Given the description of an element on the screen output the (x, y) to click on. 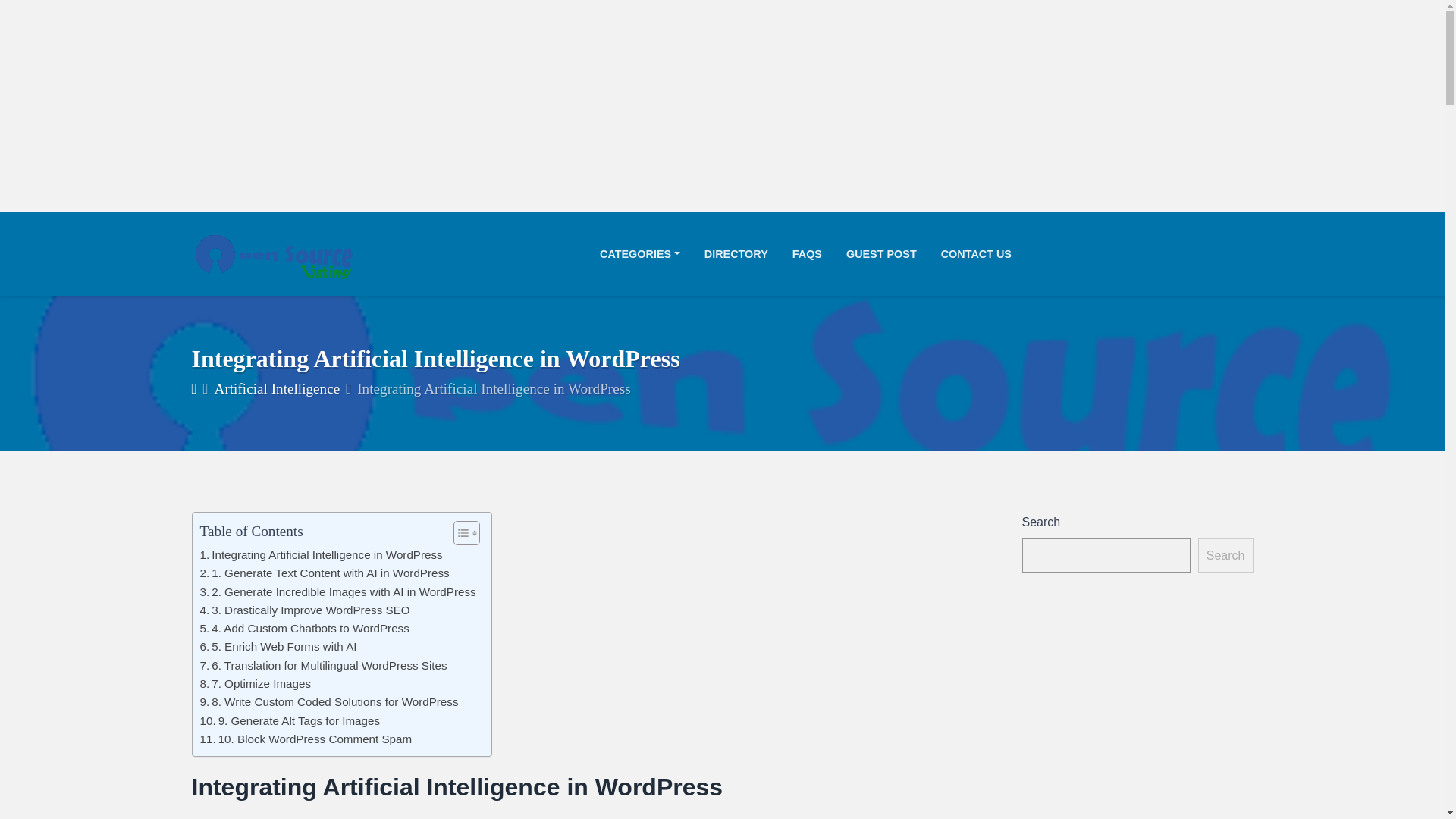
CATEGORIES (646, 253)
Integrating Artificial Intelligence in WordPress (321, 555)
2. Generate Incredible Images with AI in WordPress (338, 591)
FAQS (807, 253)
6. Translation for Multilingual WordPress Sites (323, 665)
1. Generate Text Content with AI in WordPress (324, 573)
8. Write Custom Coded Solutions for WordPress (329, 701)
9. Generate Alt Tags for Images (290, 720)
Artificial Intelligence (277, 388)
DIRECTORY (736, 253)
5. Enrich Web Forms with AI (278, 647)
3. Drastically Improve WordPress SEO (305, 610)
8. Write Custom Coded Solutions for WordPress (329, 701)
5. Enrich Web Forms with AI (278, 647)
9. Generate Alt Tags for Images (290, 720)
